Given the description of an element on the screen output the (x, y) to click on. 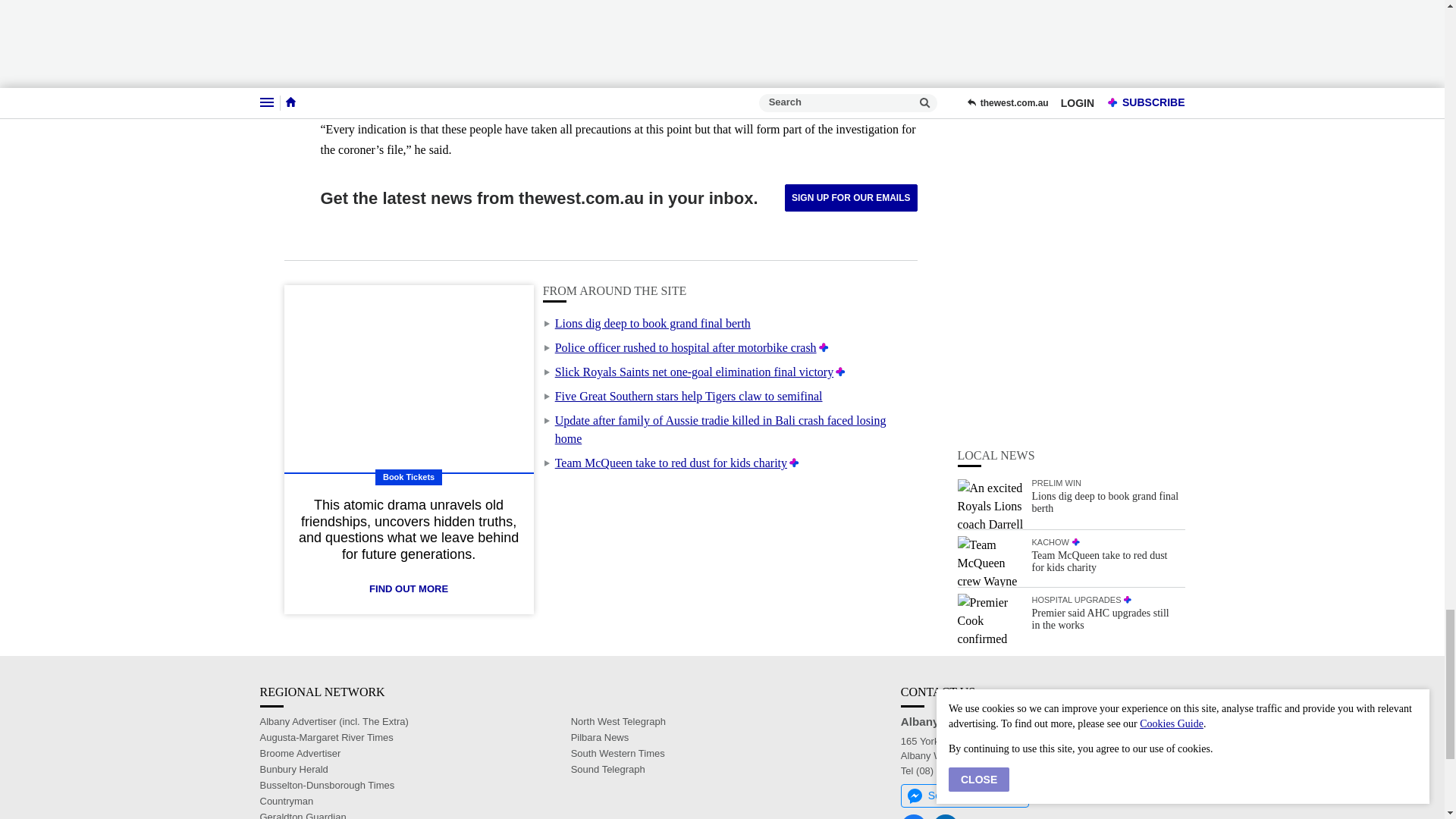
Premium (822, 347)
Premium (793, 462)
Premium (840, 371)
